Given the description of an element on the screen output the (x, y) to click on. 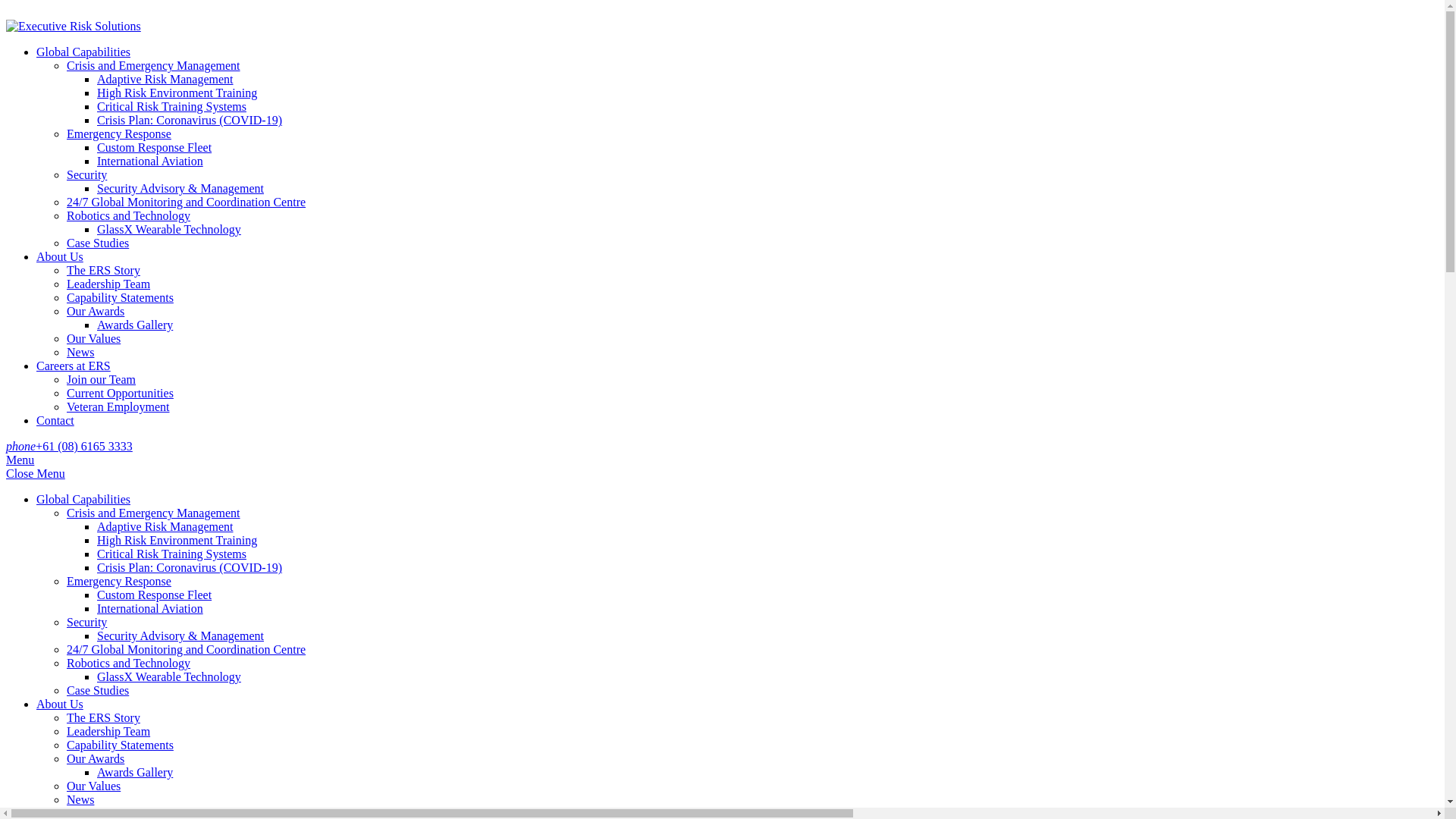
phone+61 (08) 6165 3333 Element type: text (69, 445)
High Risk Environment Training Element type: text (177, 92)
Close Menu Element type: text (35, 473)
Join our Team Element type: text (100, 379)
News Element type: text (80, 351)
Our Values Element type: text (93, 785)
Emergency Response Element type: text (118, 133)
Contact Element type: text (55, 420)
Capability Statements Element type: text (119, 744)
International Aviation Element type: text (150, 608)
Custom Response Fleet Element type: text (154, 147)
Our Awards Element type: text (95, 310)
Leadership Team Element type: text (108, 730)
Crisis Plan: Coronavirus (COVID-19) Element type: text (189, 567)
Careers at ERS Element type: text (73, 365)
About Us Element type: text (59, 703)
Case Studies Element type: text (97, 690)
Menu Element type: text (20, 459)
GlassX Wearable Technology Element type: text (169, 228)
High Risk Environment Training Element type: text (177, 539)
GlassX Wearable Technology Element type: text (169, 676)
News Element type: text (80, 799)
Our Awards Element type: text (95, 758)
Crisis Plan: Coronavirus (COVID-19) Element type: text (189, 119)
Crisis and Emergency Management Element type: text (153, 512)
International Aviation Element type: text (150, 160)
Global Capabilities Element type: text (83, 51)
Security Element type: text (86, 621)
Veteran Employment Element type: text (117, 406)
Emergency Response Element type: text (118, 580)
The ERS Story Element type: text (103, 717)
Robotics and Technology Element type: text (128, 662)
Global Capabilities Element type: text (83, 498)
24/7 Global Monitoring and Coordination Centre Element type: text (185, 201)
Crisis and Emergency Management Element type: text (153, 65)
Security Element type: text (86, 174)
24/7 Global Monitoring and Coordination Centre Element type: text (185, 649)
Capability Statements Element type: text (119, 297)
About Us Element type: text (59, 256)
Critical Risk Training Systems Element type: text (171, 106)
Awards Gallery Element type: text (134, 324)
Robotics and Technology Element type: text (128, 215)
Leadership Team Element type: text (108, 283)
Security Advisory & Management Element type: text (180, 188)
The ERS Story Element type: text (103, 269)
Our Values Element type: text (93, 338)
Case Studies Element type: text (97, 242)
Custom Response Fleet Element type: text (154, 594)
Critical Risk Training Systems Element type: text (171, 553)
Adaptive Risk Management Element type: text (165, 526)
Awards Gallery Element type: text (134, 771)
Security Advisory & Management Element type: text (180, 635)
Current Opportunities Element type: text (119, 392)
Adaptive Risk Management Element type: text (165, 78)
